Given the description of an element on the screen output the (x, y) to click on. 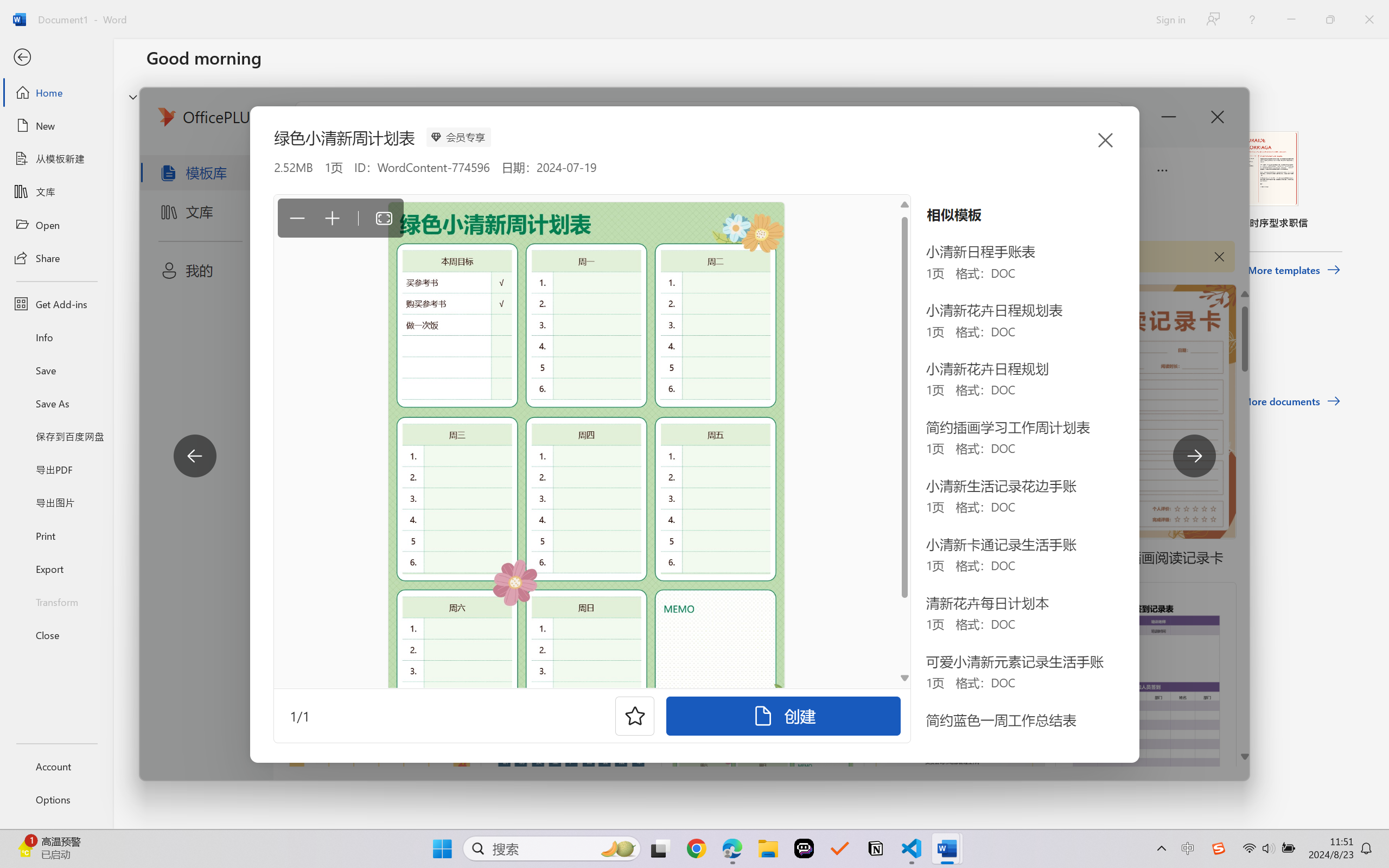
Account (56, 765)
New (56, 125)
